Given the description of an element on the screen output the (x, y) to click on. 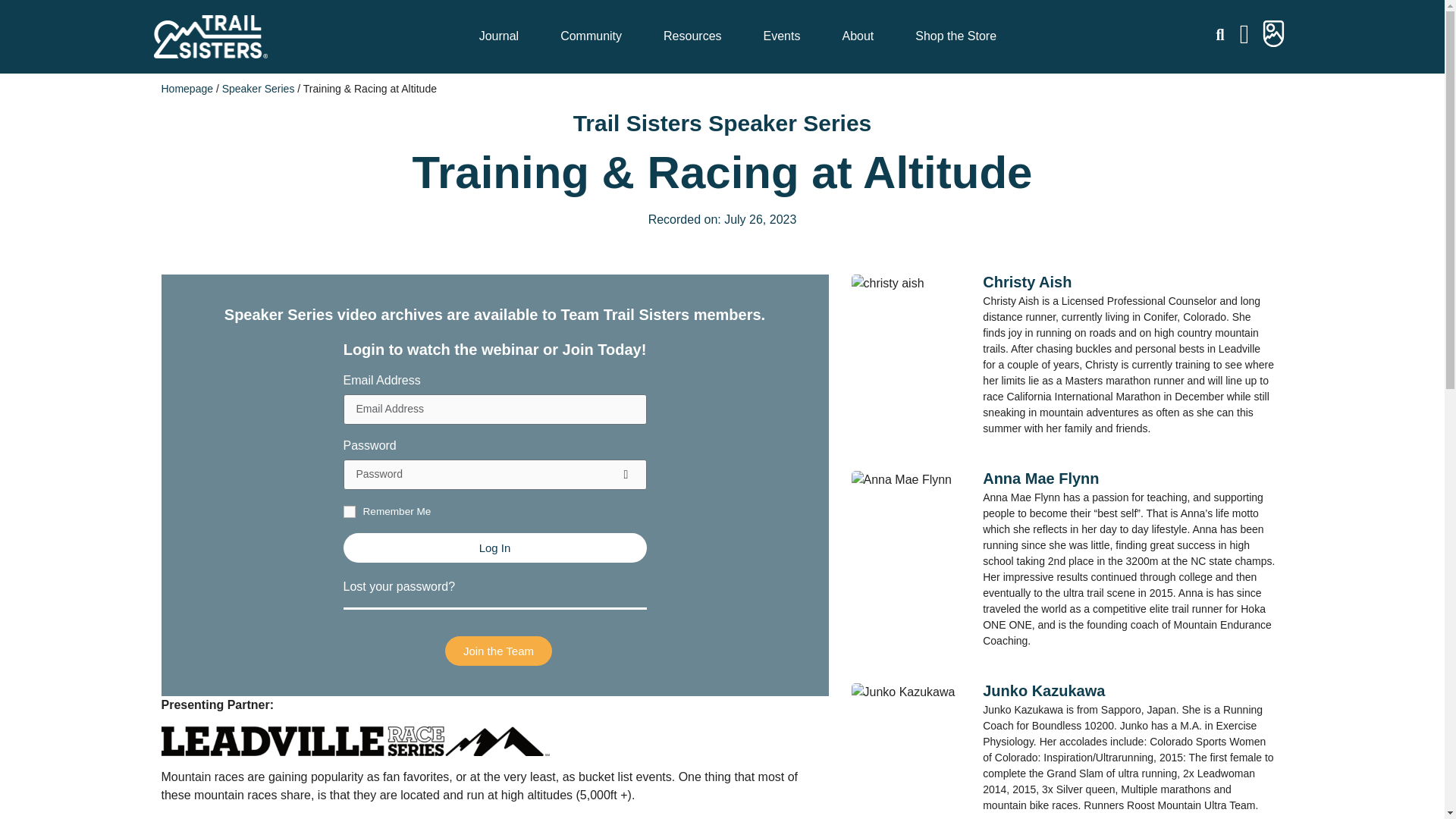
Journal (502, 36)
About (860, 36)
Resources (695, 36)
Shop the Store (955, 36)
Events (785, 36)
Community (594, 36)
